Given the description of an element on the screen output the (x, y) to click on. 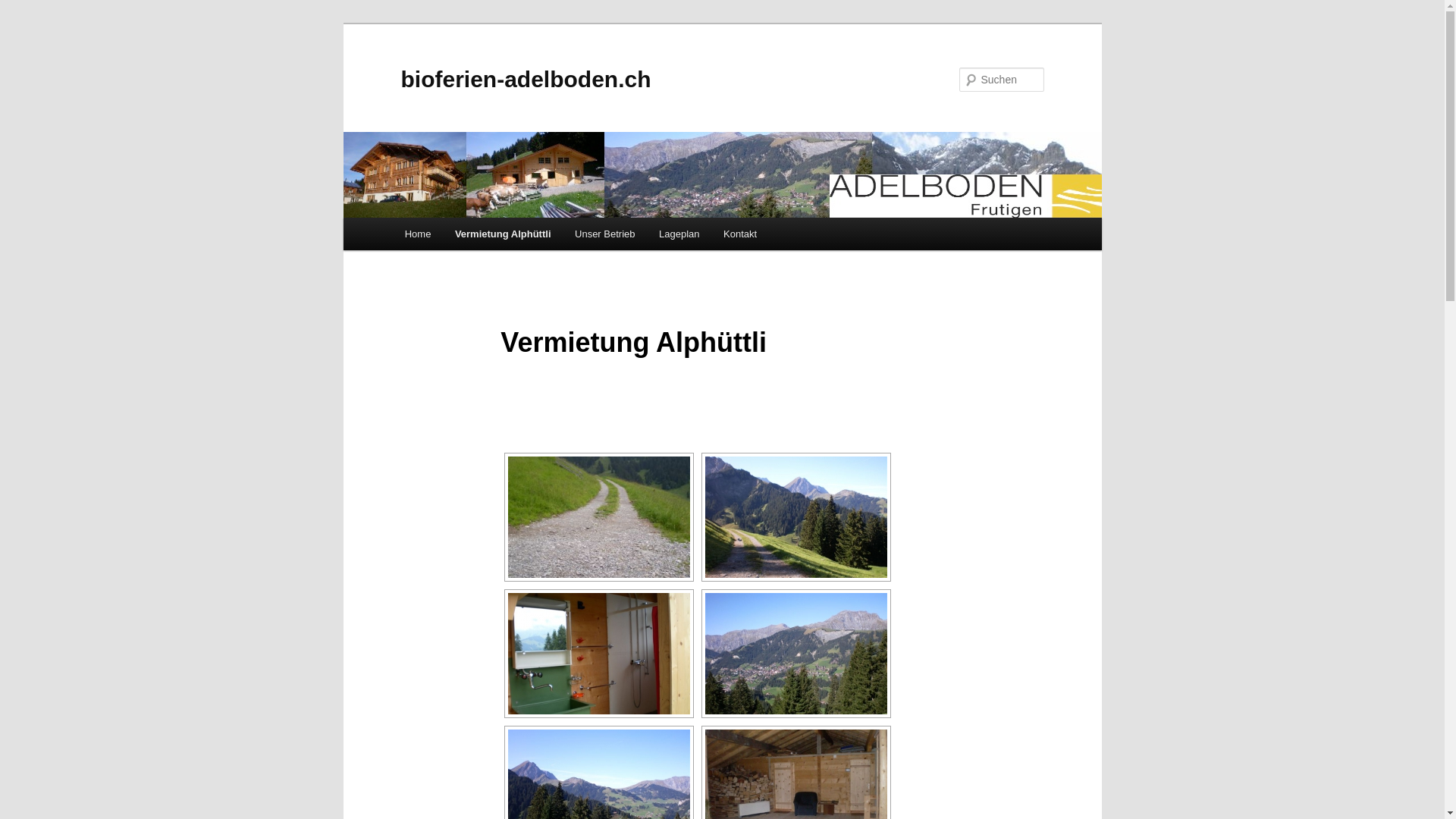
Suchen Element type: text (25, 8)
Aussicht Element type: hover (796, 516)
bioferien-adelboden.ch Element type: text (525, 78)
Home Element type: text (417, 233)
Kontakt Element type: text (739, 233)
Zum Inhalt wechseln Element type: text (414, 217)
Anfahrtsweg Element type: hover (599, 516)
Unser Betrieb Element type: text (604, 233)
Lageplan Element type: text (678, 233)
